Given the description of an element on the screen output the (x, y) to click on. 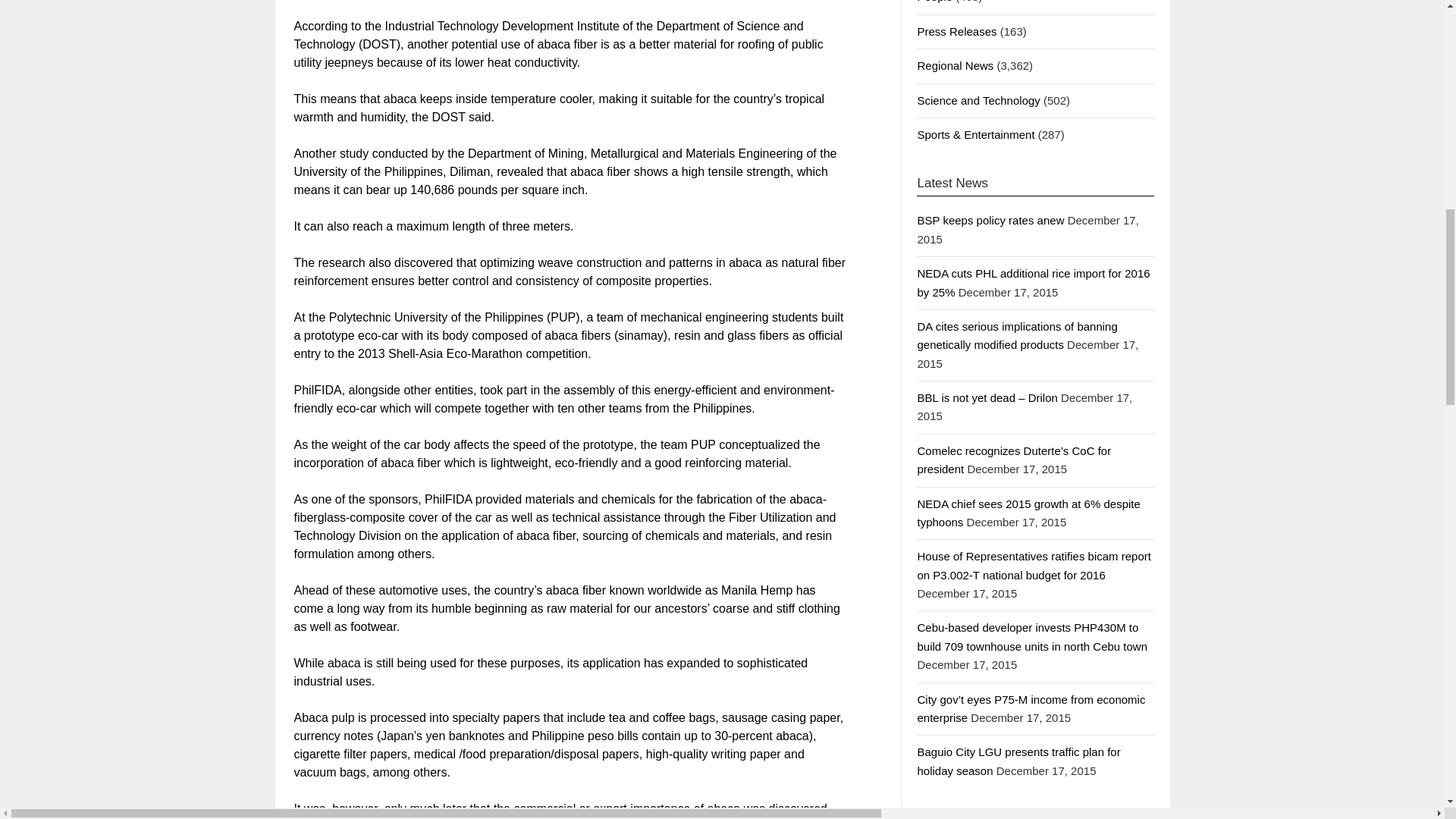
Regional News (954, 65)
Science and Technology (978, 100)
People (934, 1)
Press Releases (956, 31)
